Given the description of an element on the screen output the (x, y) to click on. 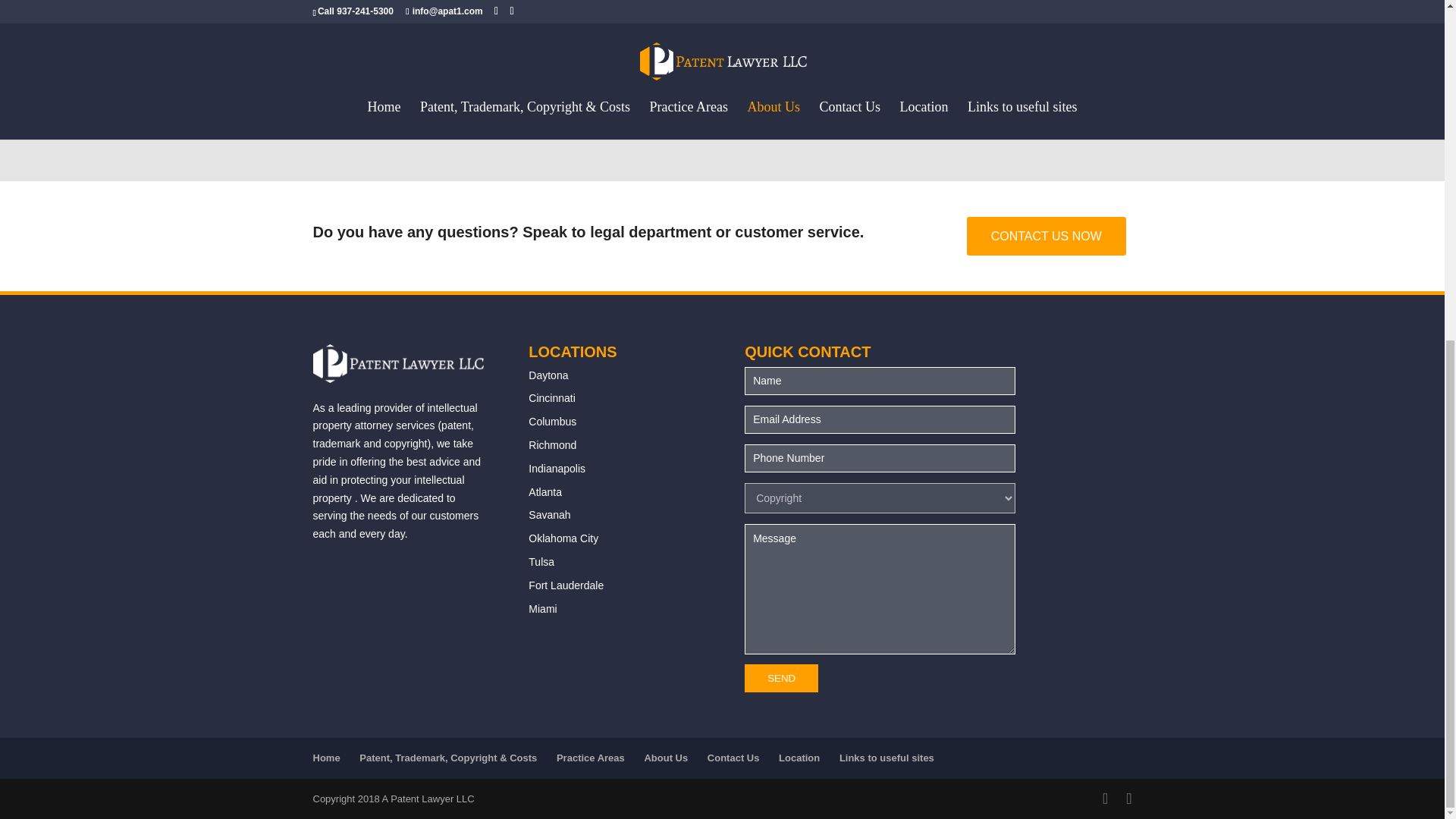
CONTACT US NOW (1045, 236)
Links to useful sites (887, 757)
Home (326, 757)
Contact Us (733, 757)
SEND (781, 678)
SEND (781, 678)
Practice Areas (590, 757)
About Us (665, 757)
Location (798, 757)
